Given the description of an element on the screen output the (x, y) to click on. 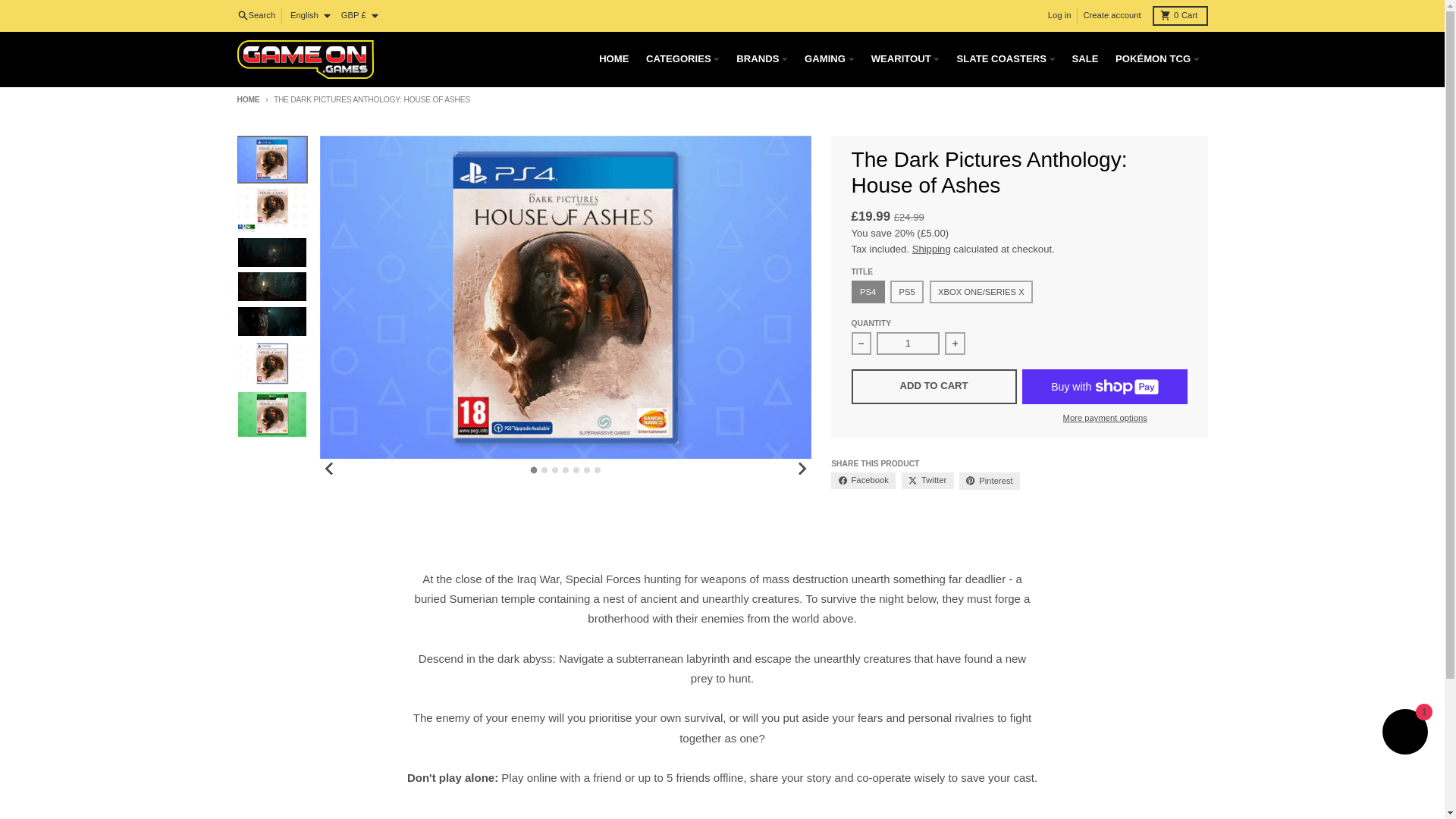
Create account (1112, 16)
English (308, 16)
Shopify online store chat (1404, 733)
Log in (1180, 15)
Search (1059, 16)
Back to the homepage (256, 16)
1 (247, 99)
PS5 (907, 343)
